Given the description of an element on the screen output the (x, y) to click on. 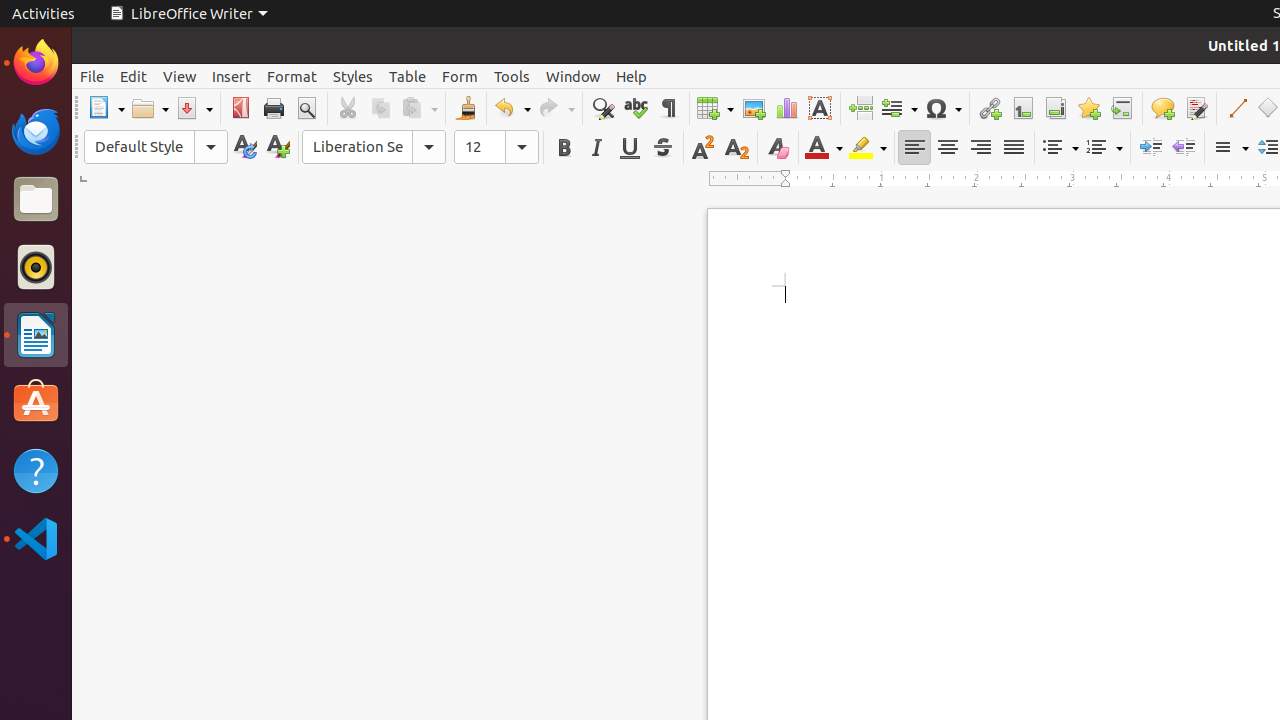
Visual Studio Code Element type: push-button (36, 538)
File Element type: menu (92, 76)
Print Preview Element type: toggle-button (306, 108)
Find & Replace Element type: toggle-button (602, 108)
IsaHelpMain.desktop Element type: label (133, 300)
